Given the description of an element on the screen output the (x, y) to click on. 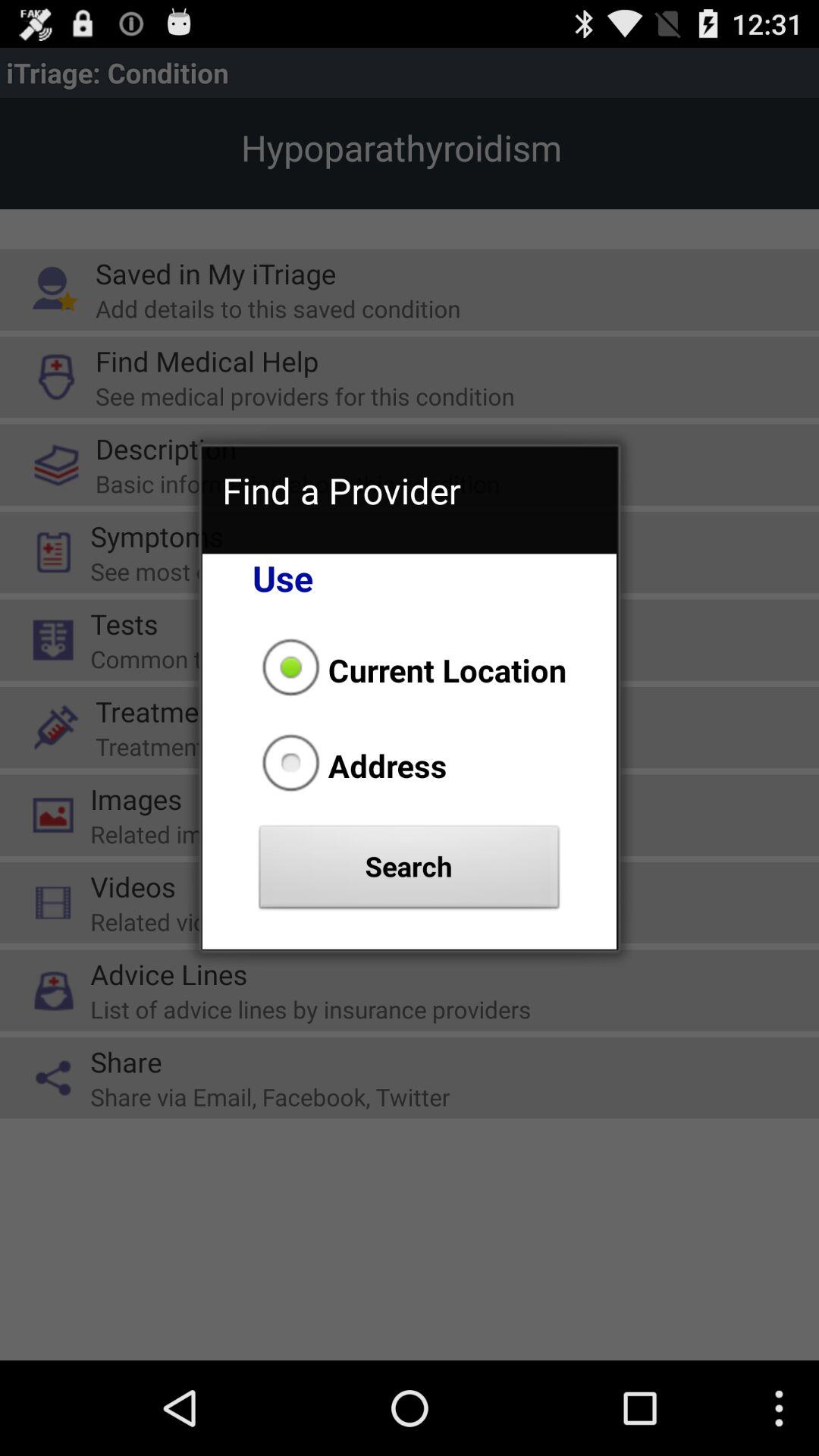
launch search button (409, 871)
